Given the description of an element on the screen output the (x, y) to click on. 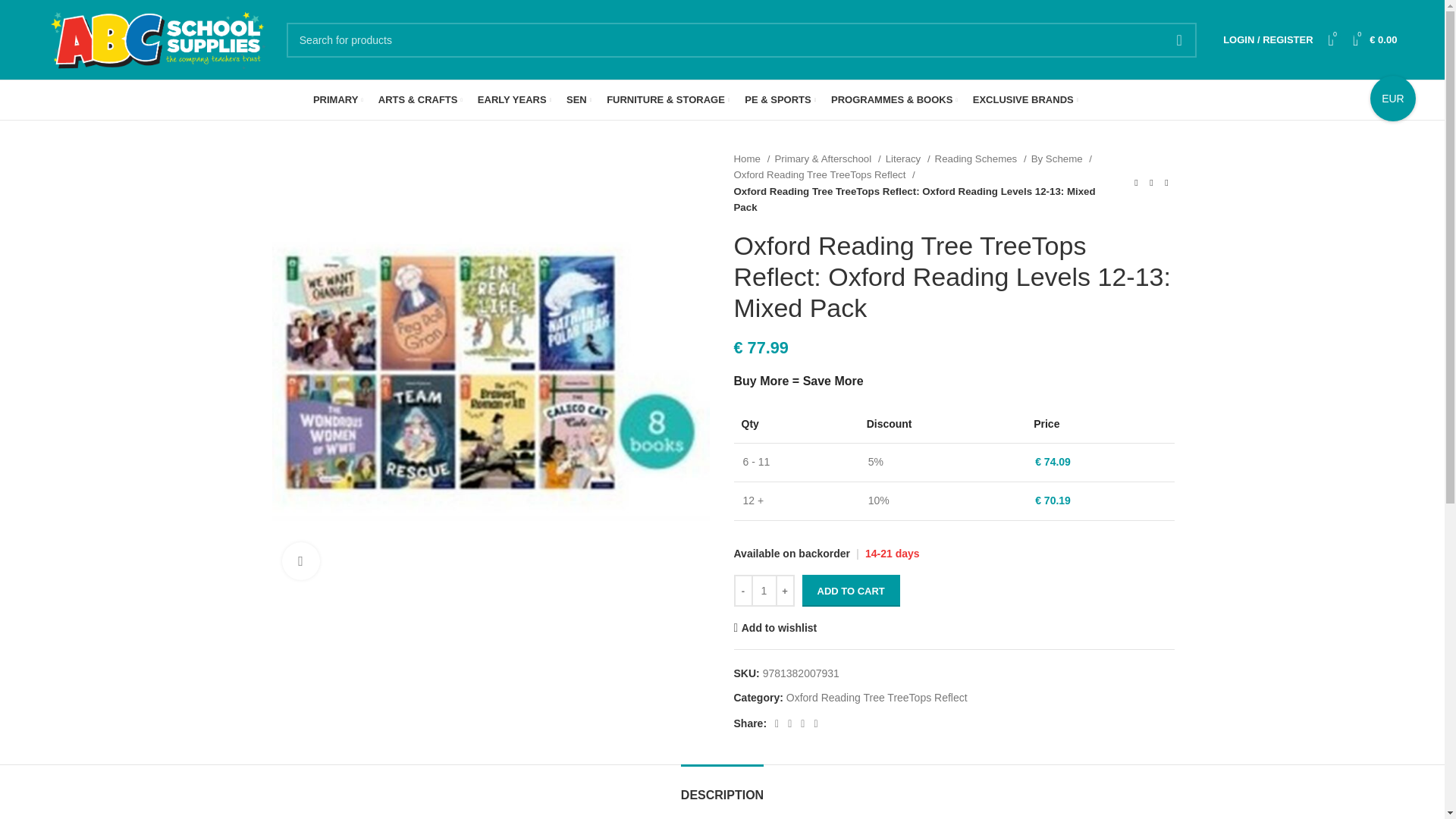
Shopping cart (1375, 39)
Search for products (741, 39)
My account (1267, 39)
PRIMARY (337, 100)
SEARCH (1178, 39)
